Given the description of an element on the screen output the (x, y) to click on. 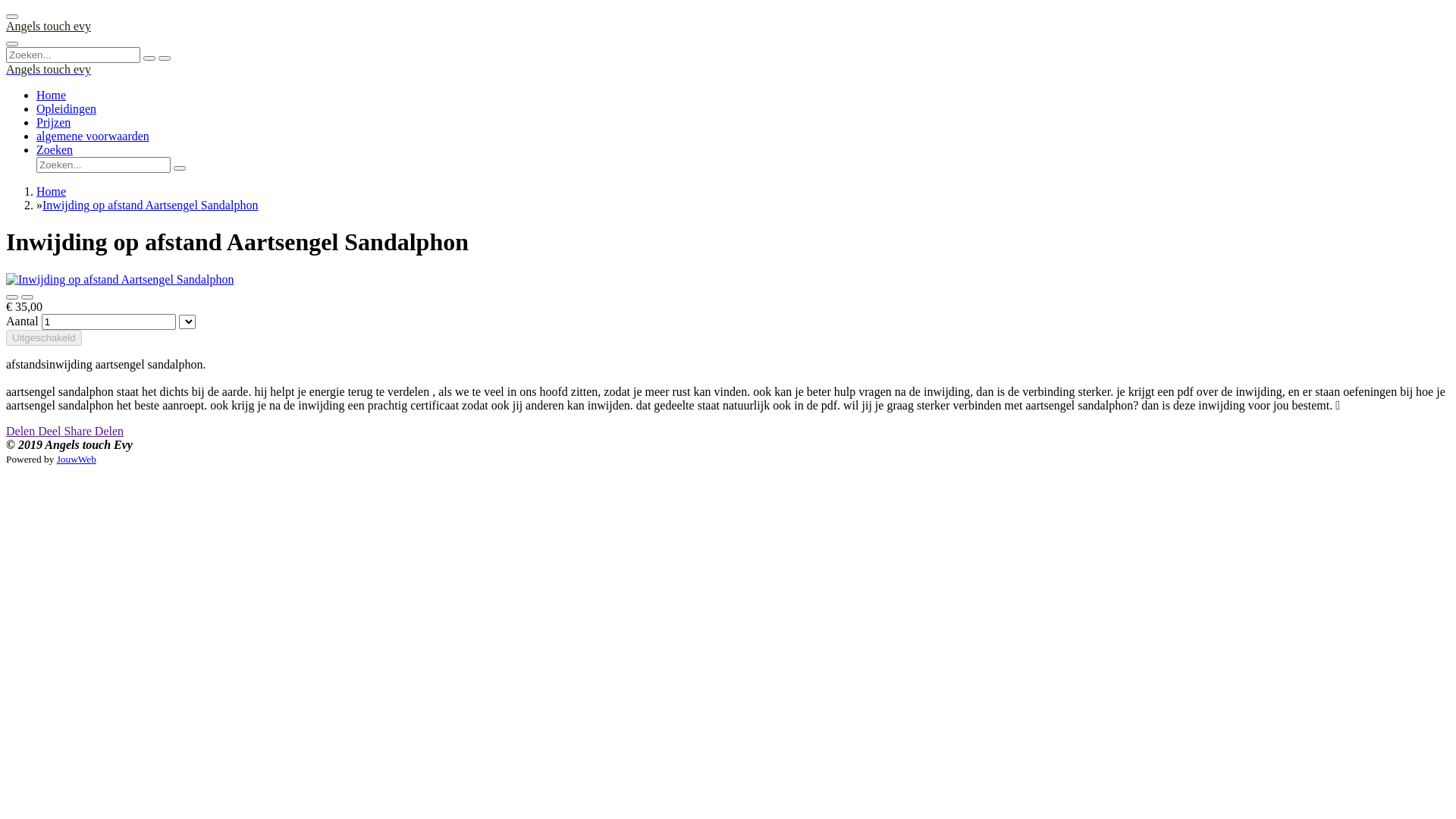
Inwijding op afstand Aartsengel Sandalphon Element type: text (149, 204)
Home Element type: text (50, 191)
JouwWeb Element type: text (76, 458)
Home Element type: text (50, 94)
Share Element type: text (78, 430)
Deel Element type: text (50, 430)
Opleidingen Element type: text (66, 108)
algemene voorwaarden Element type: text (92, 135)
Angels touch evy Element type: text (48, 68)
Delen Element type: text (21, 430)
Uitgeschakeld Element type: text (43, 337)
Angels touch evy Element type: text (48, 25)
Delen Element type: text (108, 430)
Prijzen Element type: text (53, 122)
Zoeken Element type: text (54, 149)
